Given the description of an element on the screen output the (x, y) to click on. 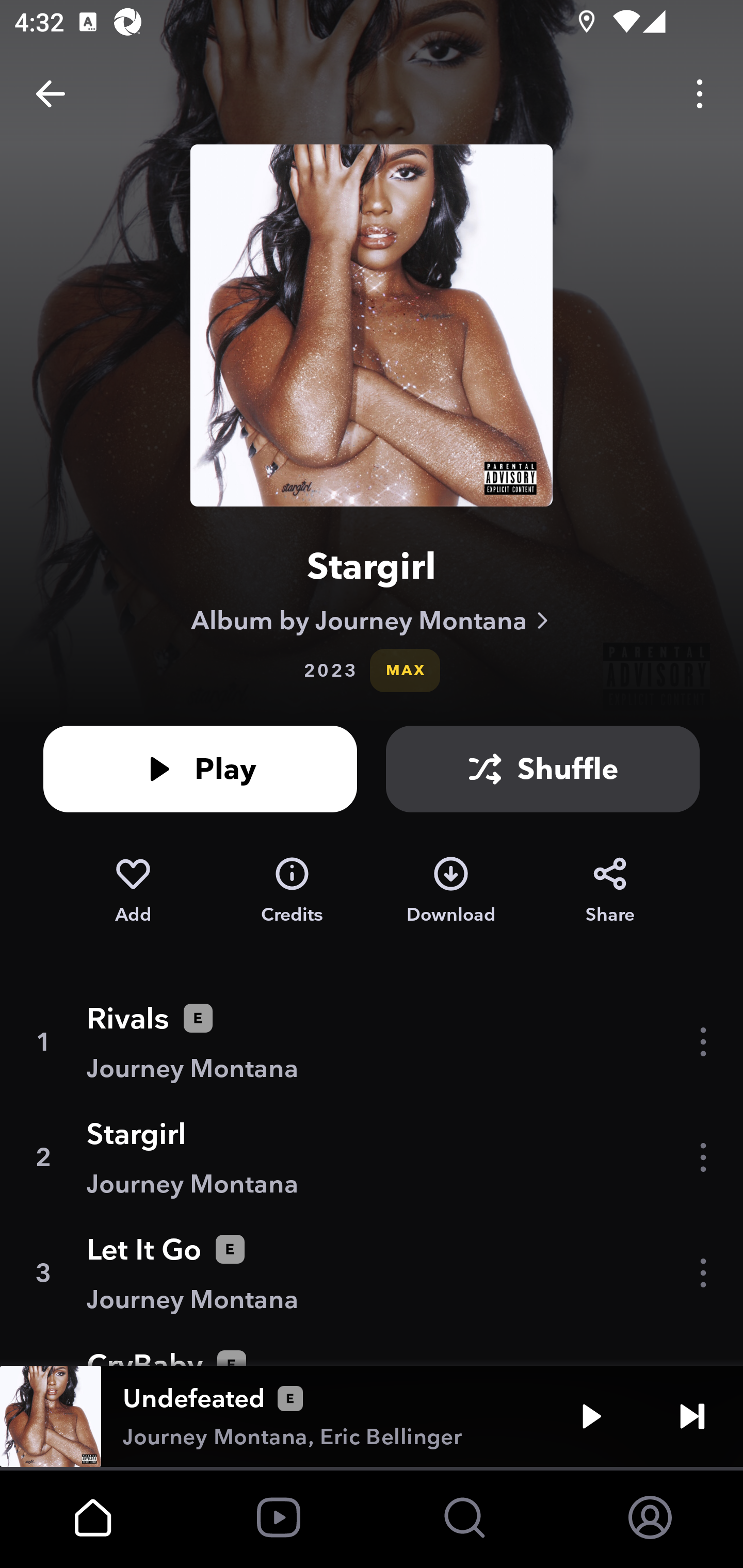
Options (699, 93)
Stargirl (371, 565)
Album by Journey Montana (371, 619)
Play (200, 768)
Shuffle (542, 768)
Add to My Collection Add (132, 890)
Credits (291, 890)
Download (450, 890)
Share (609, 890)
1 Rivals Journey Montana (371, 1041)
2 Stargirl Journey Montana (371, 1157)
3 Let It Go Journey Montana (371, 1273)
Undefeated    Journey Montana, Eric Bellinger Play (371, 1416)
Play (590, 1416)
